Given the description of an element on the screen output the (x, y) to click on. 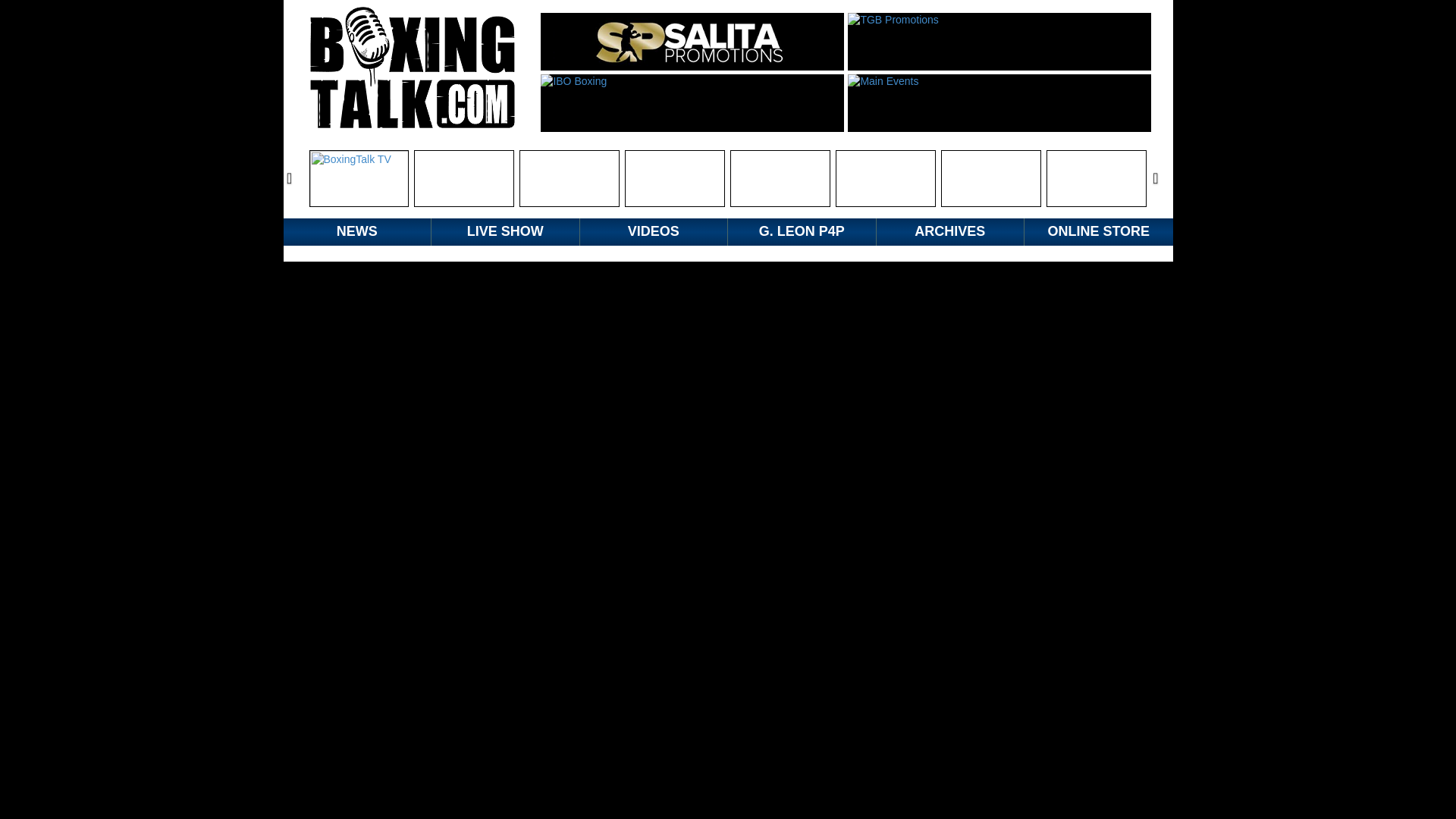
IBO Boxing (692, 102)
BoxingTalk TV (358, 178)
Salita Promotions (692, 41)
TGB Promotions (999, 41)
Main Events (999, 102)
